Given the description of an element on the screen output the (x, y) to click on. 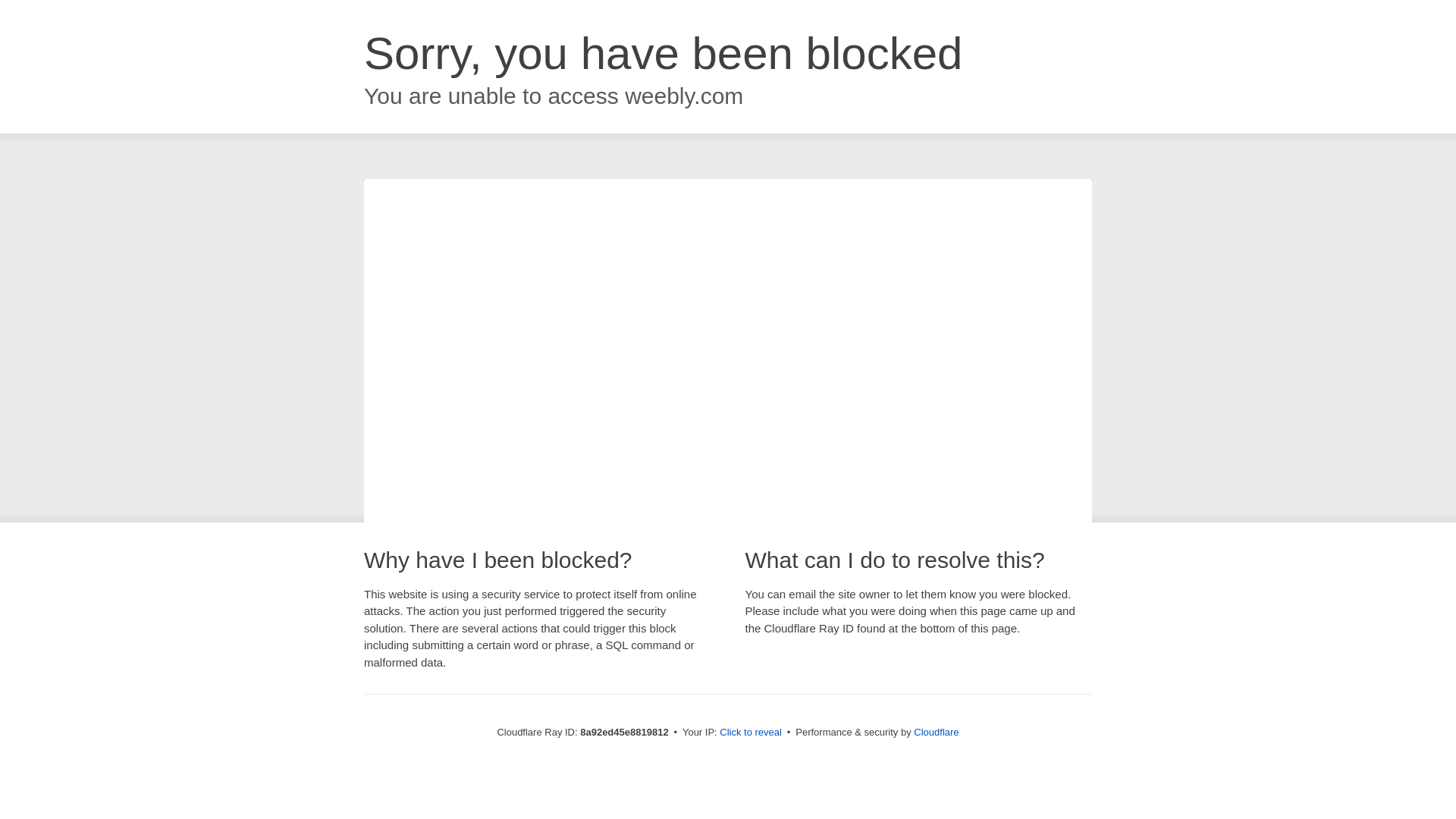
Cloudflare (936, 731)
Click to reveal (750, 732)
